Given the description of an element on the screen output the (x, y) to click on. 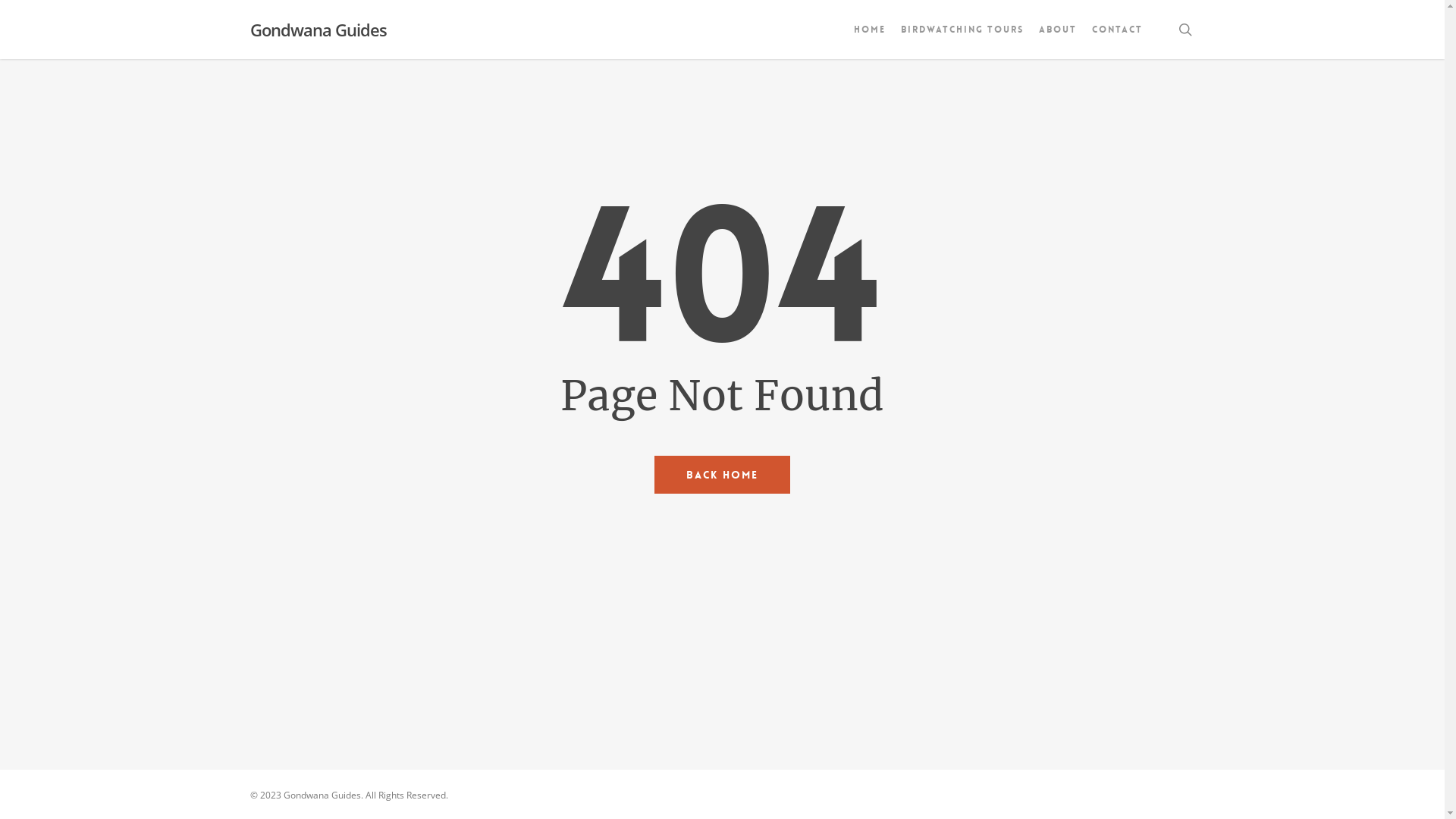
search Element type: text (1185, 29)
BIRDWATCHING TOURS Element type: text (962, 29)
ABOUT Element type: text (1057, 29)
CONTACT Element type: text (1117, 29)
Gondwana Guides Element type: text (318, 29)
HOME Element type: text (869, 29)
Back Home Element type: text (722, 473)
